Given the description of an element on the screen output the (x, y) to click on. 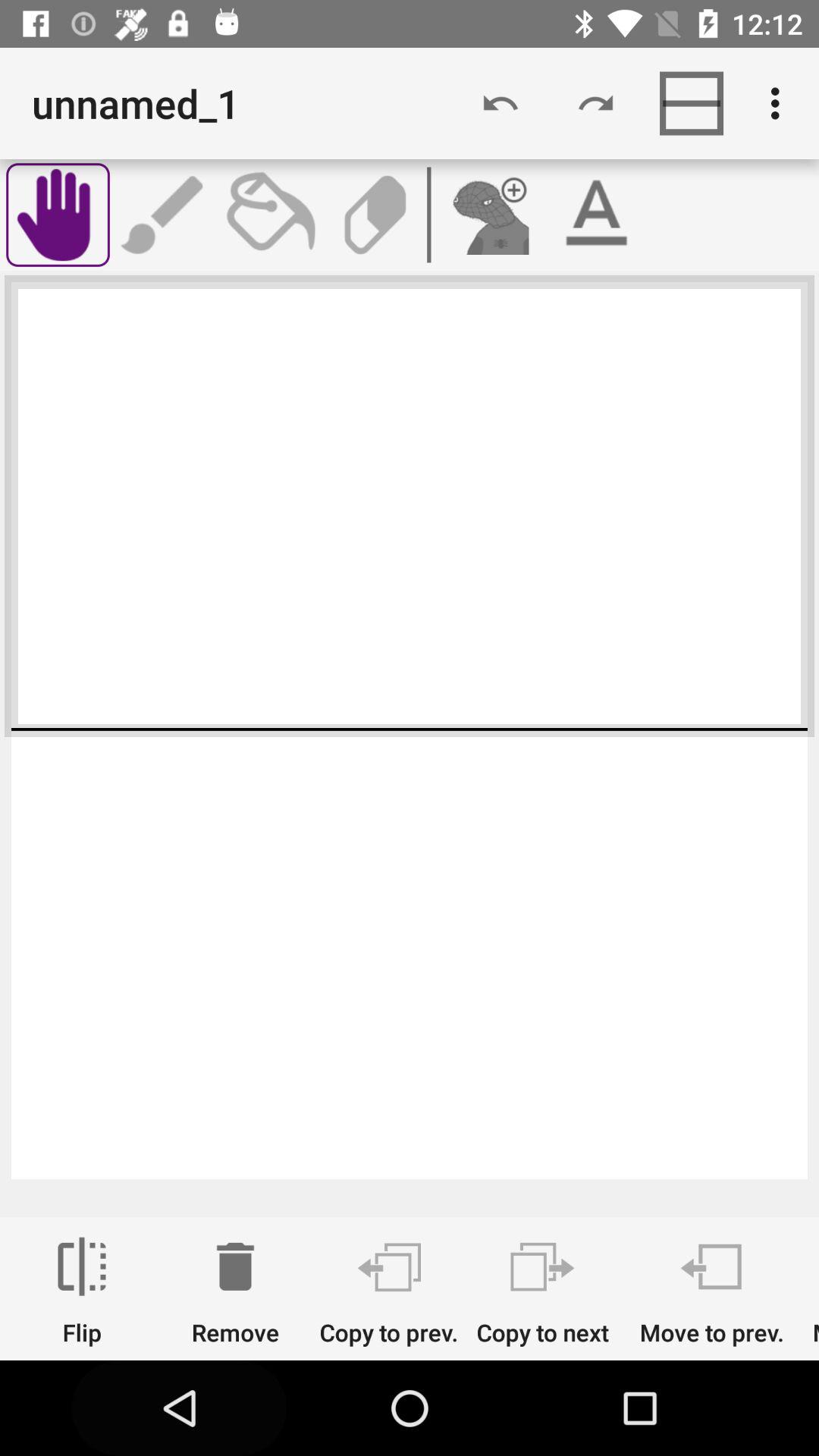
app image (488, 214)
